Given the description of an element on the screen output the (x, y) to click on. 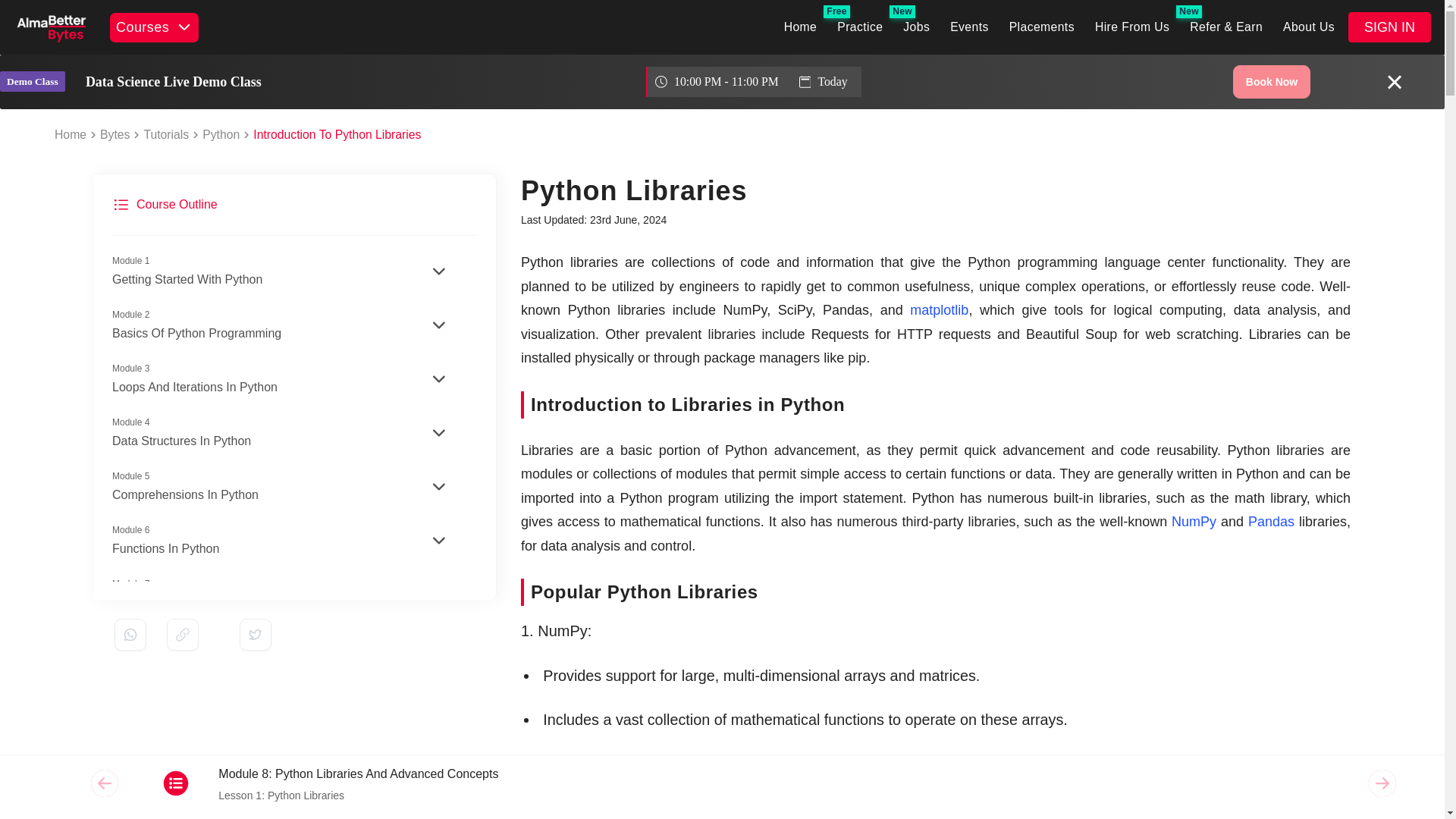
Introduction to Libraries in Python (936, 404)
Tutorials (165, 134)
Courses (294, 433)
Events (154, 26)
SIGN IN (969, 27)
